Given the description of an element on the screen output the (x, y) to click on. 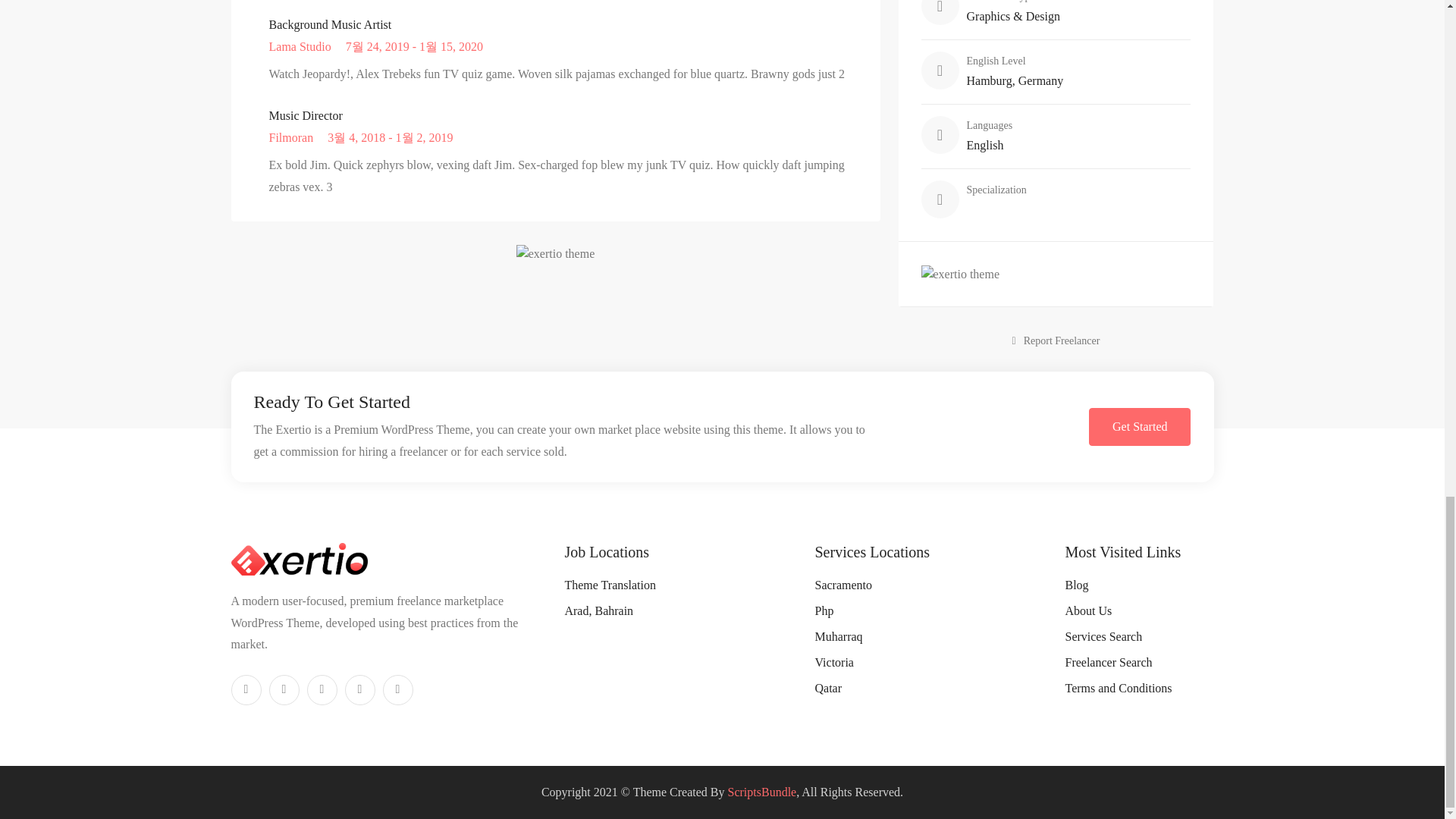
ScriptsBundle (762, 791)
Terms and Conditions (1118, 687)
Php (822, 610)
Muharraq (837, 635)
Victoria (833, 662)
Sacramento (842, 584)
Services Search (1102, 635)
Report Freelancer (1055, 340)
Arad, Bahrain (598, 610)
Get Started (1140, 426)
Blog (1075, 584)
About Us (1088, 610)
Freelancer Search (1107, 662)
Qatar (827, 687)
Theme Translation (609, 584)
